Given the description of an element on the screen output the (x, y) to click on. 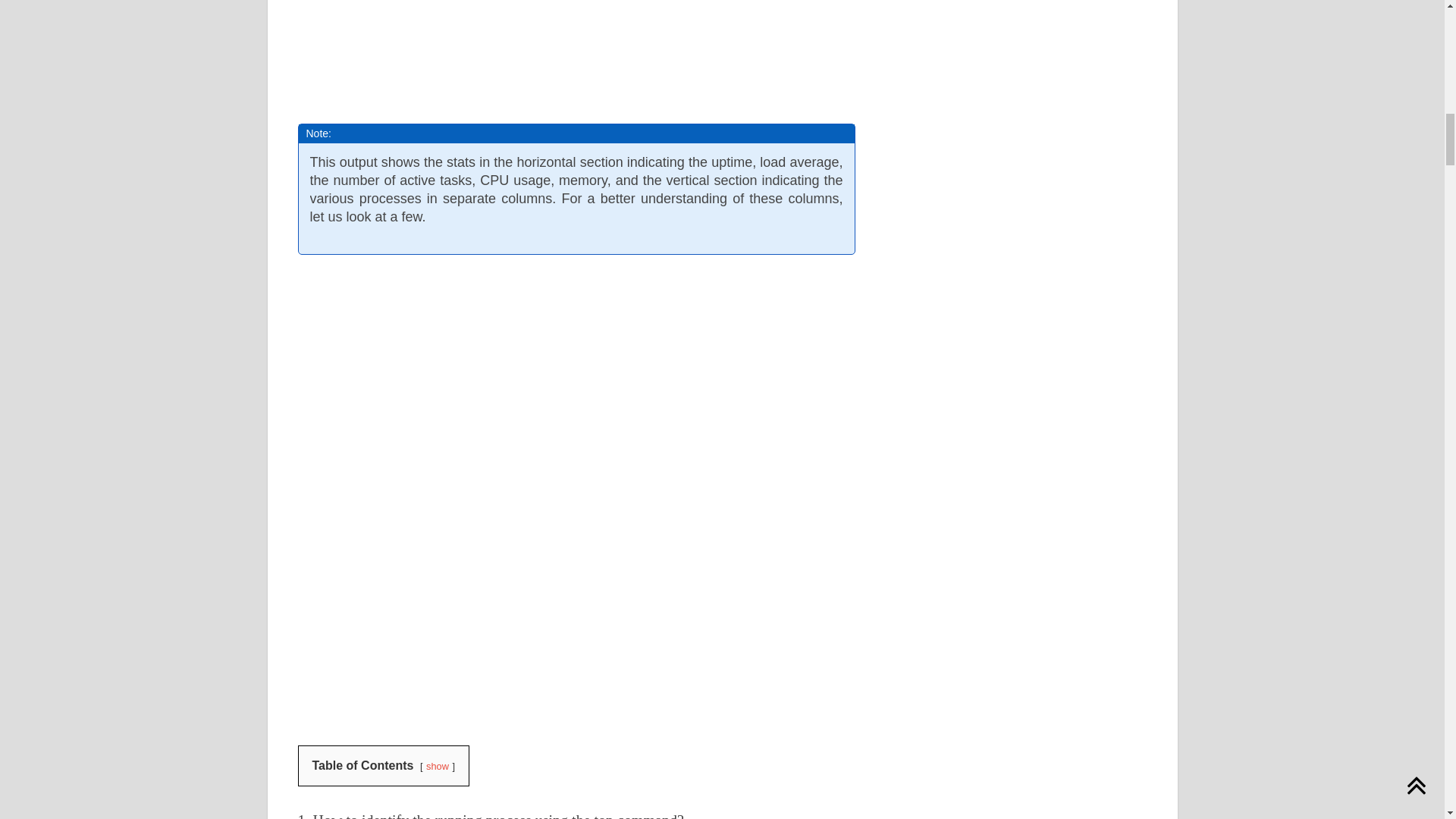
show (437, 766)
